Given the description of an element on the screen output the (x, y) to click on. 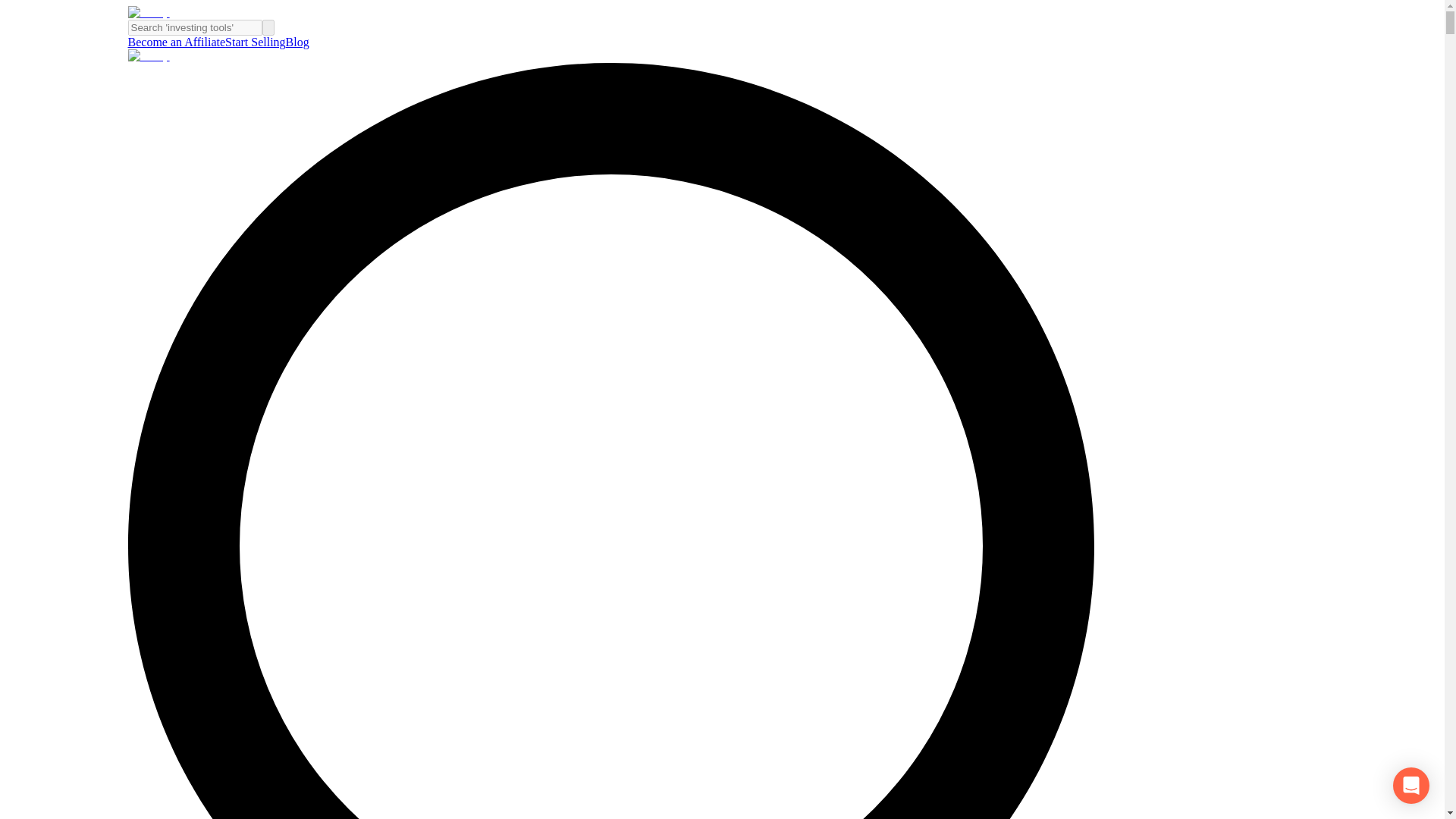
Become an Affiliate (176, 42)
Start Selling (255, 42)
Blog (296, 42)
